Given the description of an element on the screen output the (x, y) to click on. 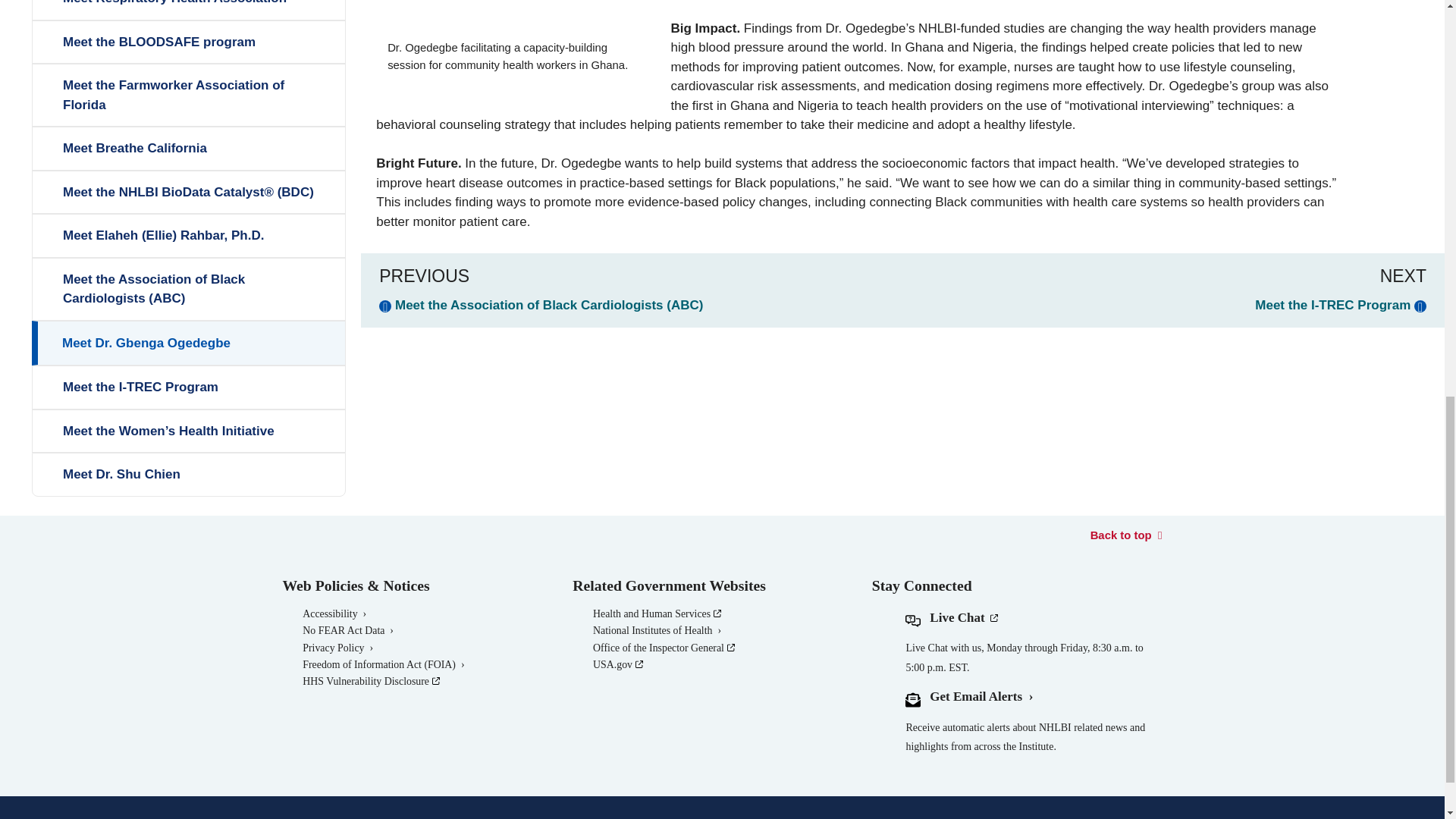
Go to previous page (540, 305)
Go to next page (1340, 305)
